Given the description of an element on the screen output the (x, y) to click on. 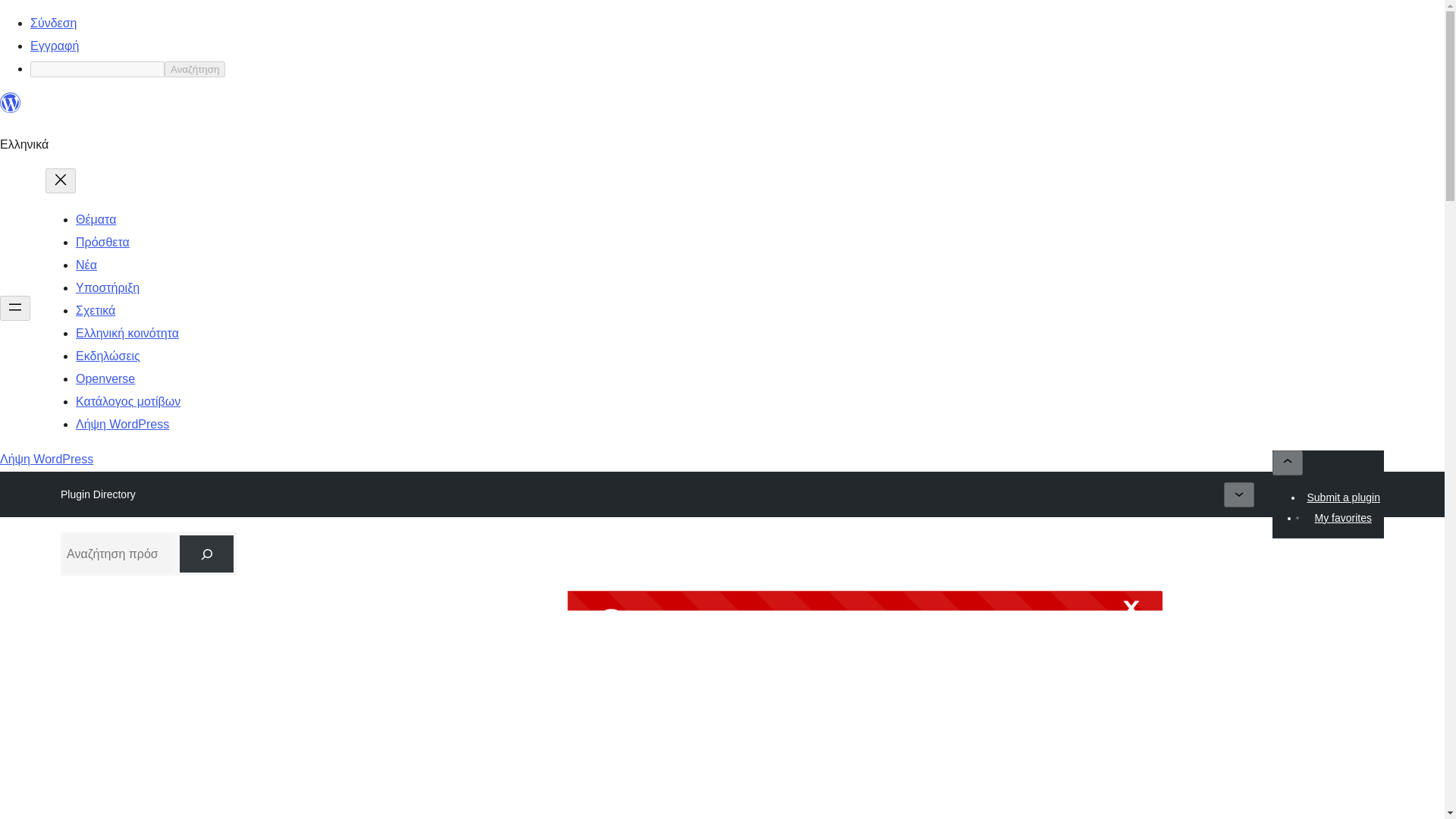
WordPress.org (10, 102)
My favorites (1342, 517)
Plugin Directory (97, 494)
WordPress.org (10, 109)
Openverse (105, 378)
Submit a plugin (1343, 496)
